Given the description of an element on the screen output the (x, y) to click on. 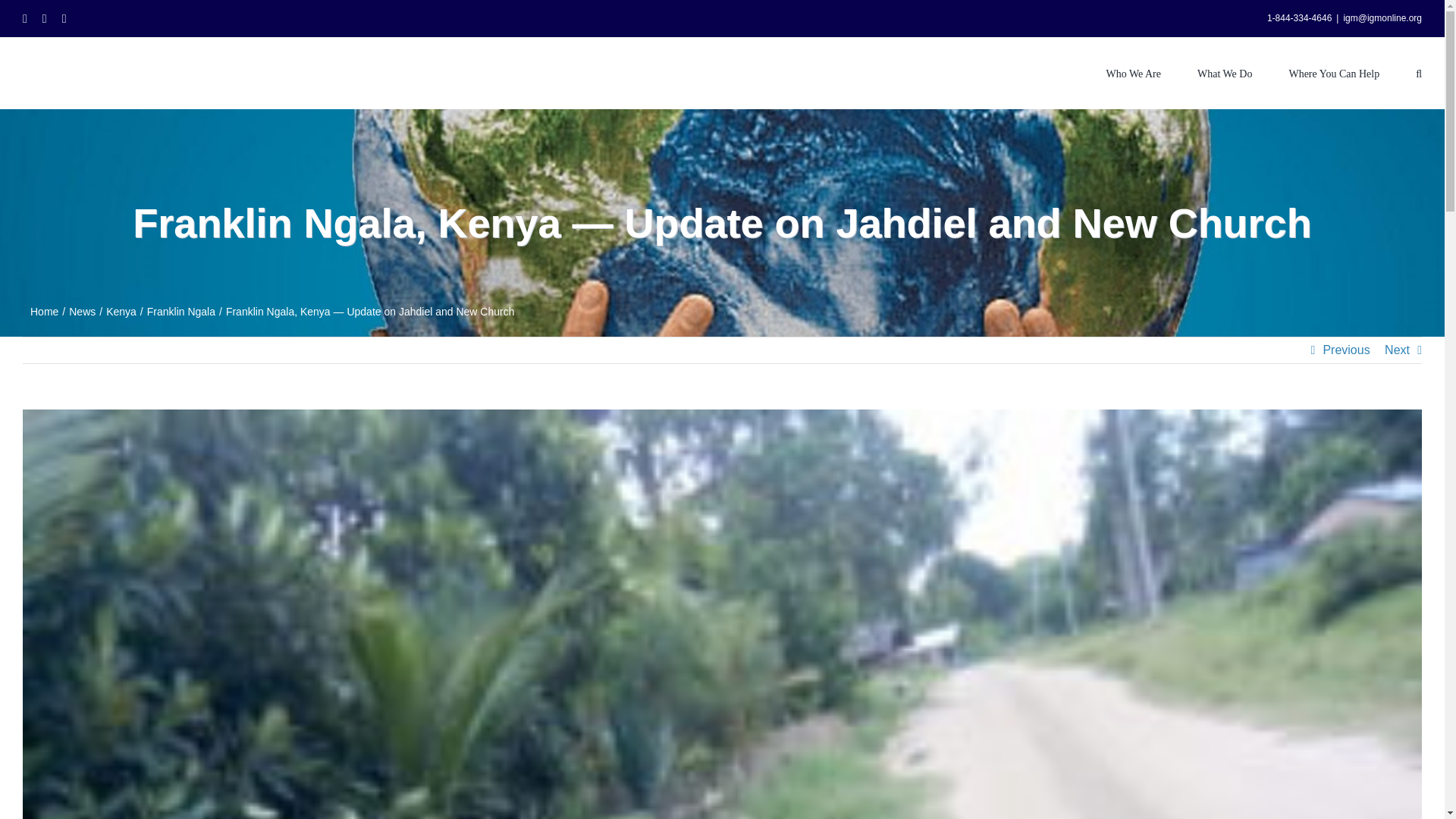
Next (1396, 350)
Previous (1346, 350)
Franklin Ngala (181, 311)
Home (44, 311)
News (82, 311)
Kenya (121, 311)
Where You Can Help (1333, 72)
